Given the description of an element on the screen output the (x, y) to click on. 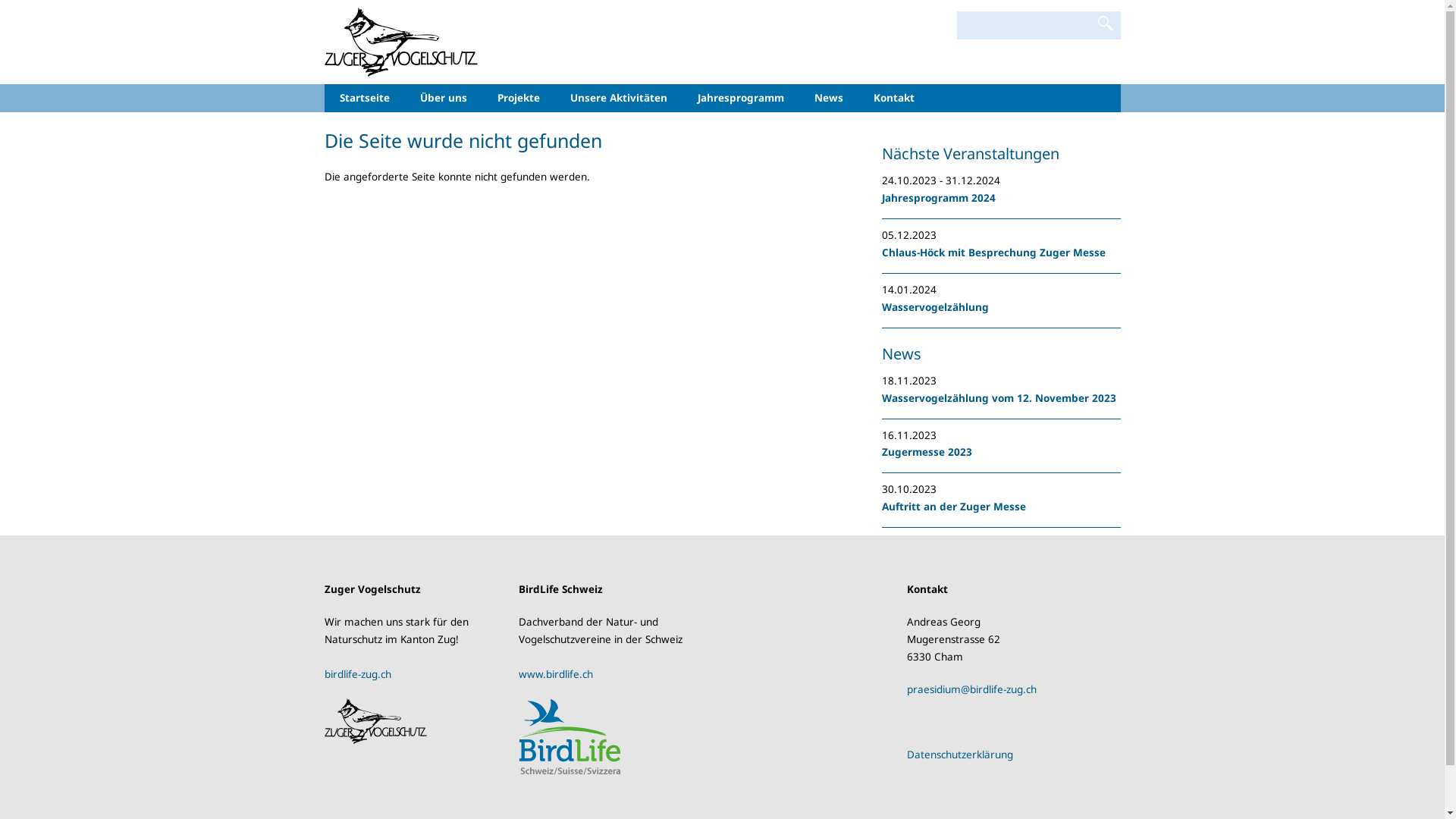
Zugermesse 2023 Element type: text (926, 451)
Search Element type: text (1105, 23)
News Element type: text (828, 98)
Jahresprogramm Element type: text (740, 98)
www.birdlife.ch Element type: text (555, 673)
Projekte Element type: text (518, 98)
Startseite Element type: hover (401, 40)
Jahresprogramm 2024 Element type: text (937, 197)
Kontakt Element type: text (893, 98)
Direkt zum Inhalt Element type: text (0, 0)
praesidium@birdlife-zug.ch Element type: text (971, 689)
Startseite Element type: text (364, 98)
birdlife-zug.ch Element type: text (357, 673)
Die Begriffe eingeben, nach denen gesucht werden soll. Element type: hover (1023, 25)
Auftritt an der Zuger Messe Element type: text (953, 506)
